Given the description of an element on the screen output the (x, y) to click on. 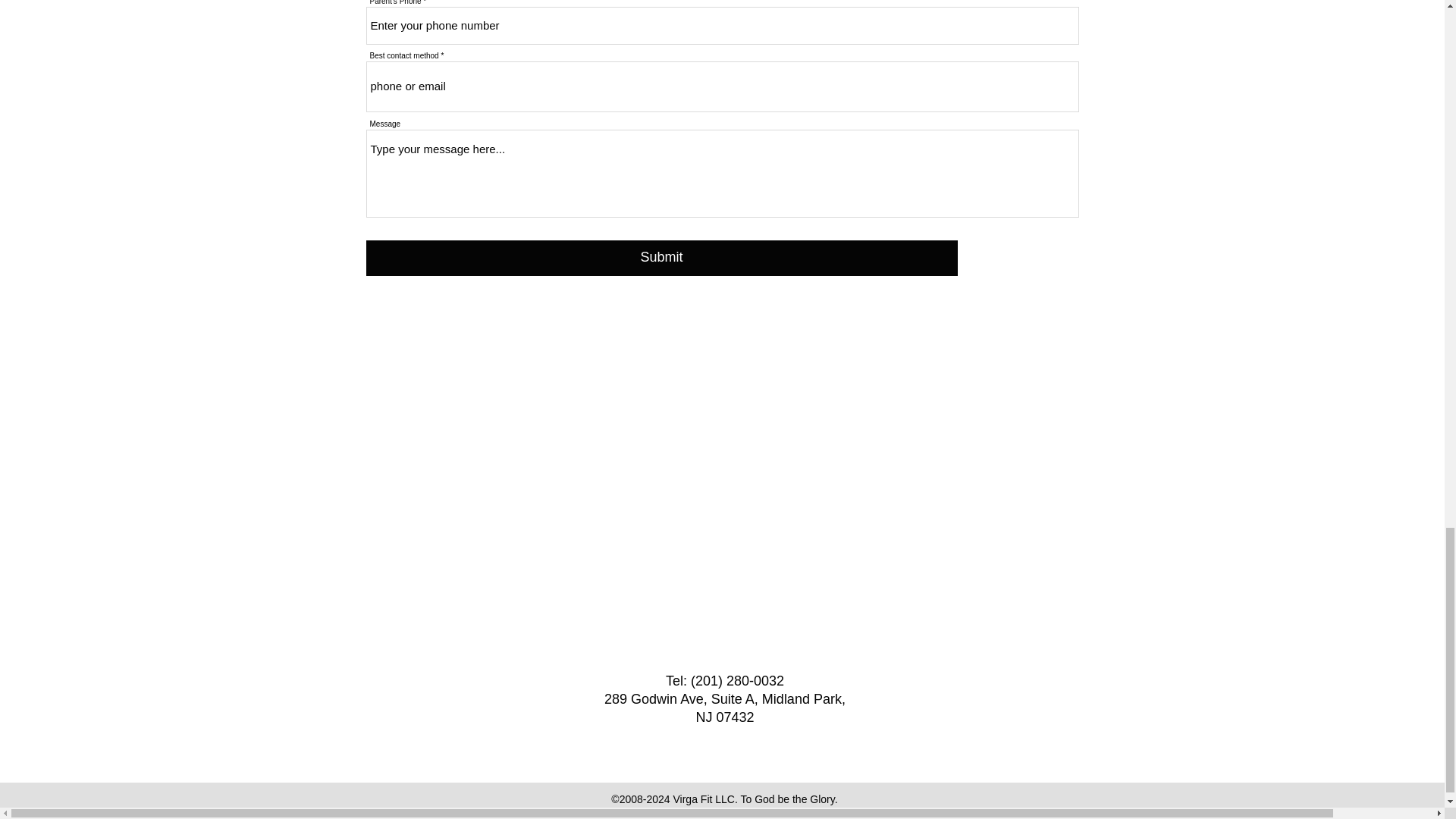
Submit (660, 258)
